Given the description of an element on the screen output the (x, y) to click on. 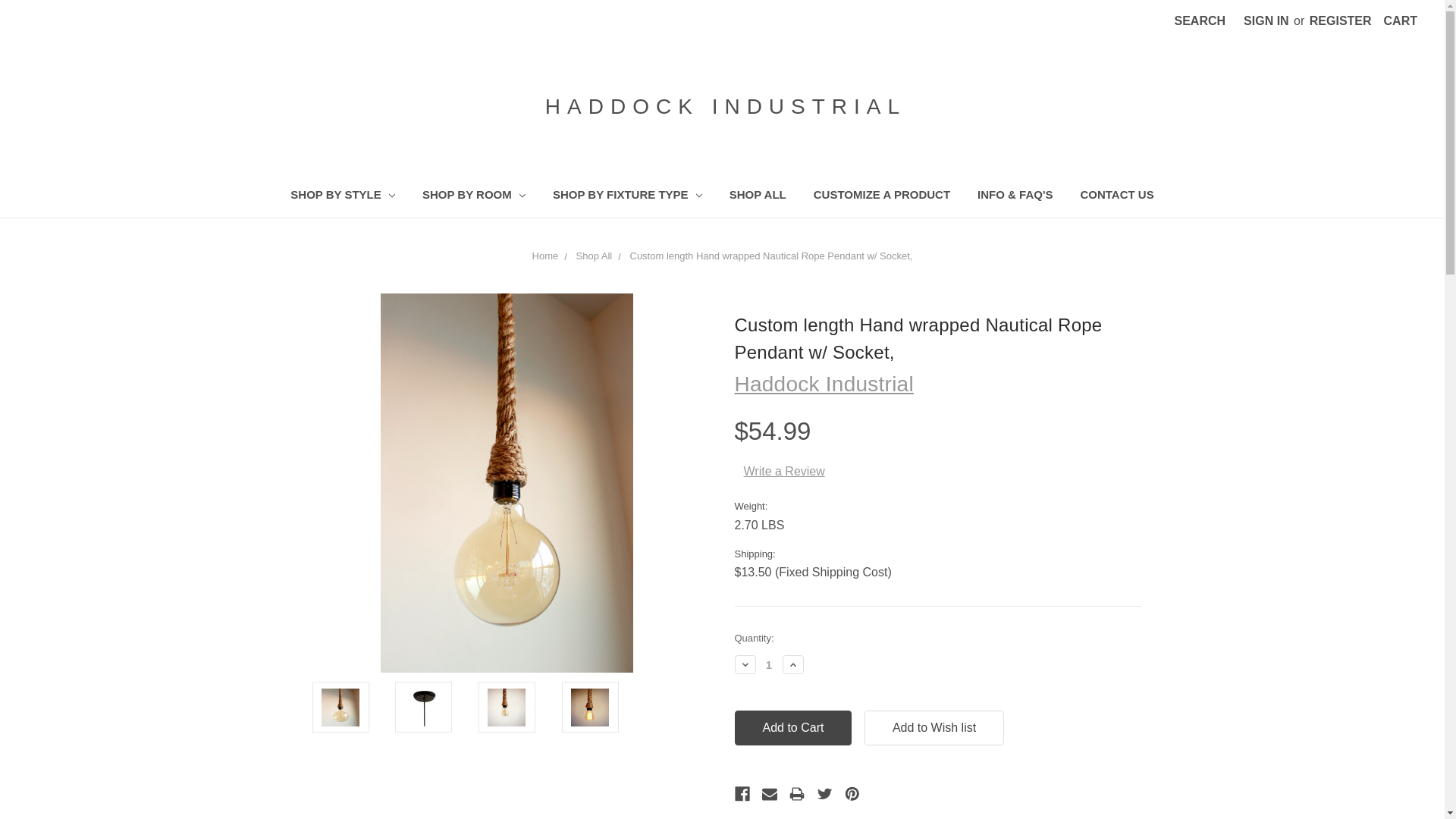
Add to Wish list (934, 727)
REGISTER (1340, 21)
SHOP BY STYLE (342, 197)
1 (768, 664)
Manila rope cord with socket  (506, 707)
SEARCH (1199, 21)
SHOP BY ROOM (473, 197)
CART (1400, 21)
SHOP BY FIXTURE TYPE (627, 197)
Black ceiling canopy (423, 707)
